Given the description of an element on the screen output the (x, y) to click on. 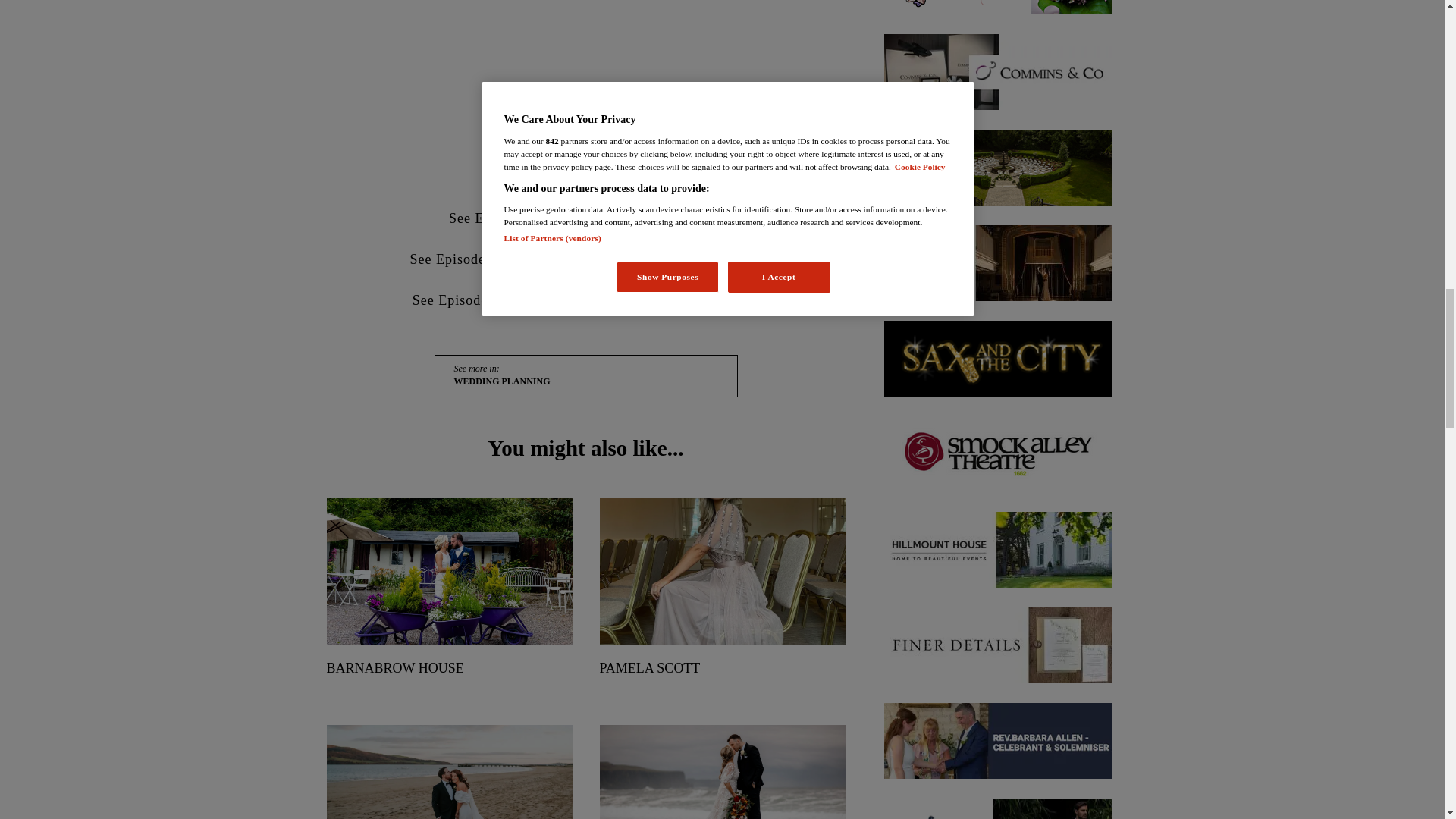
One Fab Day Wedding Showcase Episode 2 (586, 95)
